Given the description of an element on the screen output the (x, y) to click on. 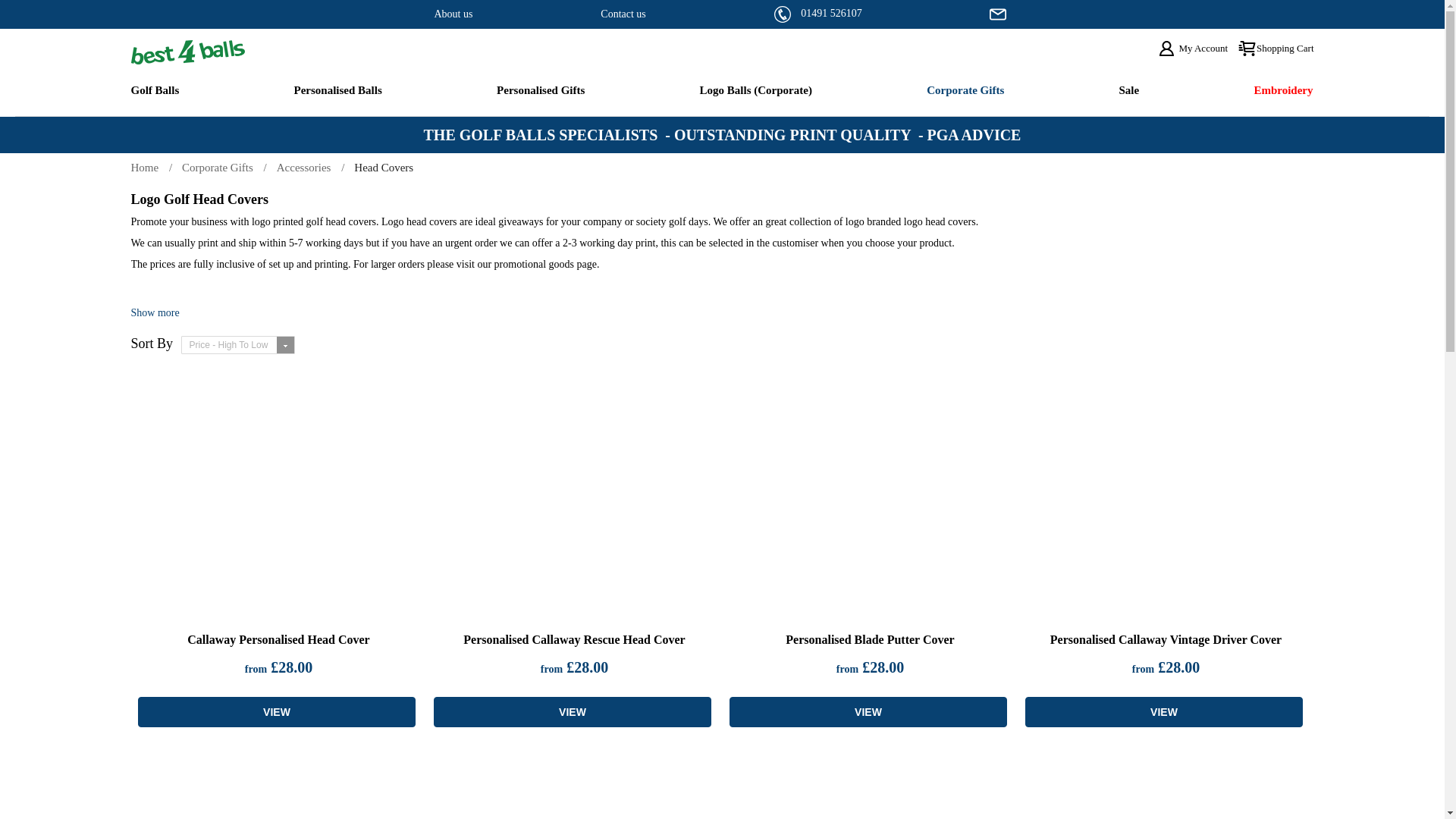
My Account (1192, 48)
About us (452, 13)
01491 526107 (830, 12)
Shopping Cart (1275, 48)
Golf Balls (155, 90)
Go to Home Page (155, 167)
Contact us (622, 13)
Best4Balls Logo (272, 52)
